Given the description of an element on the screen output the (x, y) to click on. 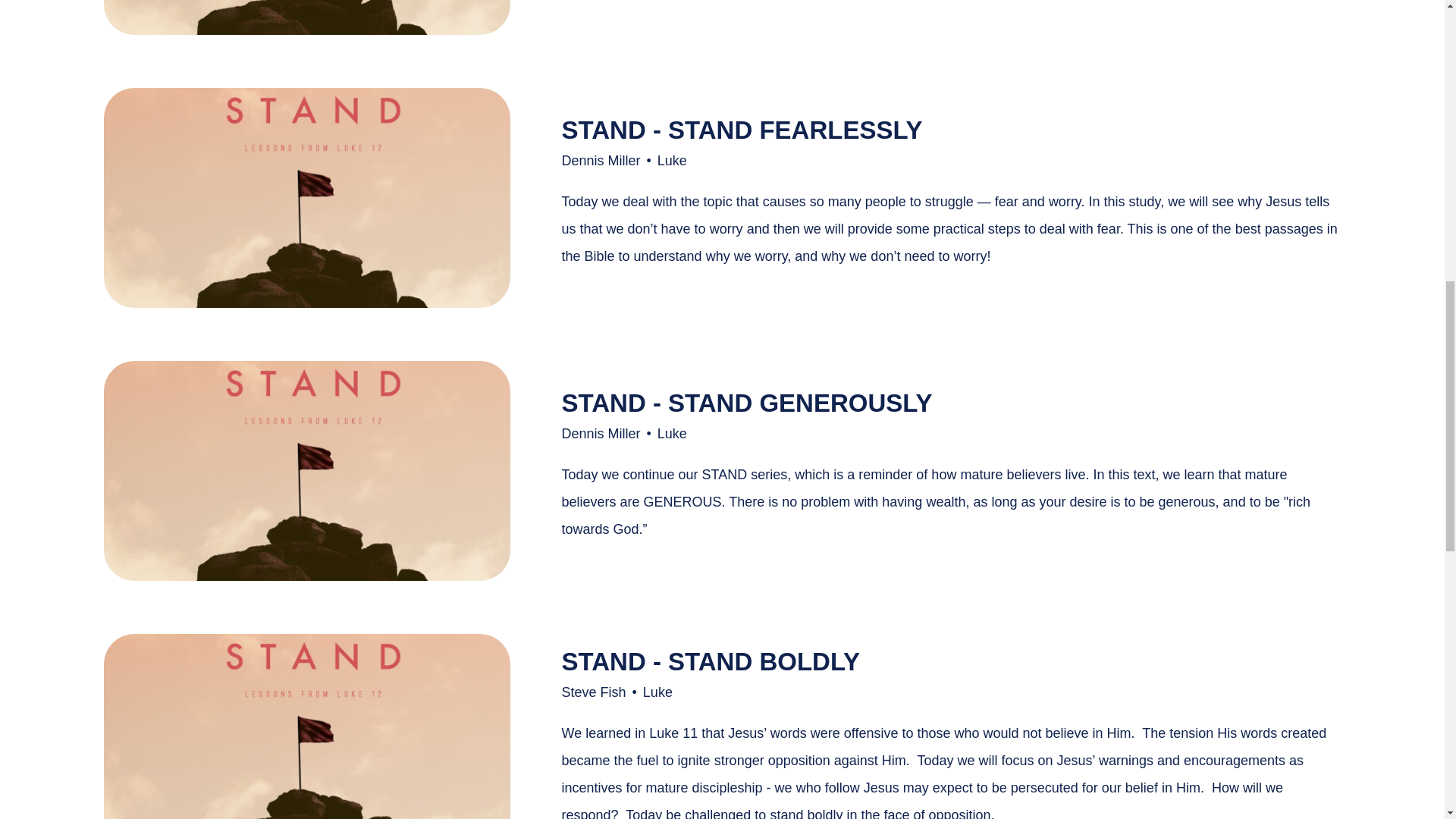
STAND - STAND FEARLESSLY (740, 130)
